Given the description of an element on the screen output the (x, y) to click on. 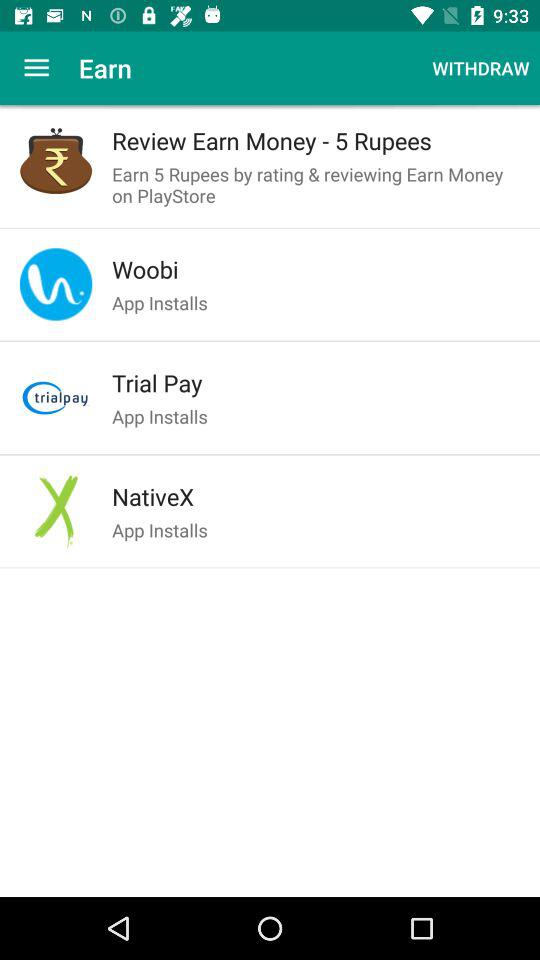
choose the nativex (316, 496)
